Given the description of an element on the screen output the (x, y) to click on. 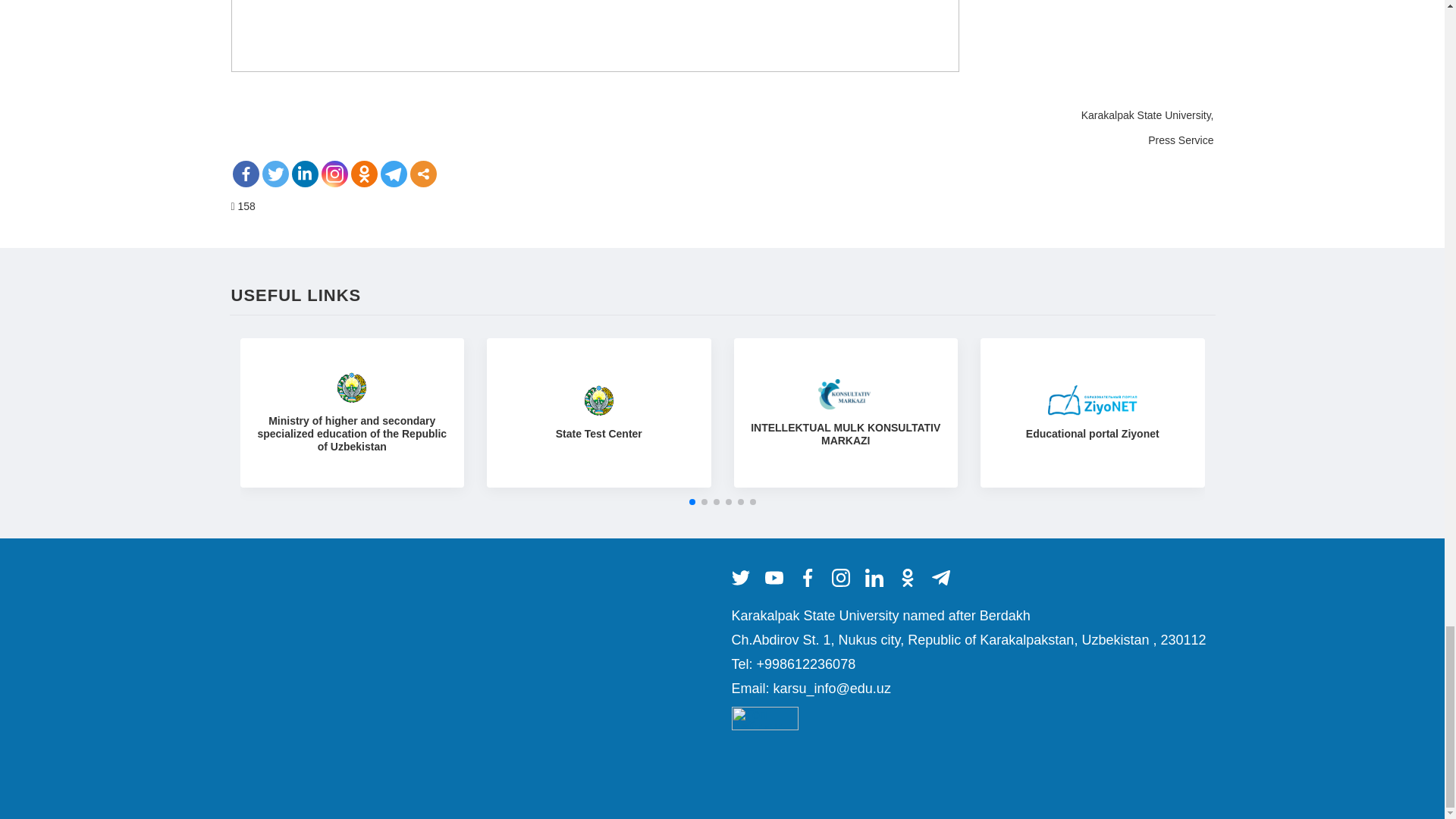
Facebook (245, 173)
Instagram (334, 173)
Telegram (393, 173)
Odnoklassniki (363, 173)
More (422, 173)
Twitter (275, 173)
Linkedin (304, 173)
